Given the description of an element on the screen output the (x, y) to click on. 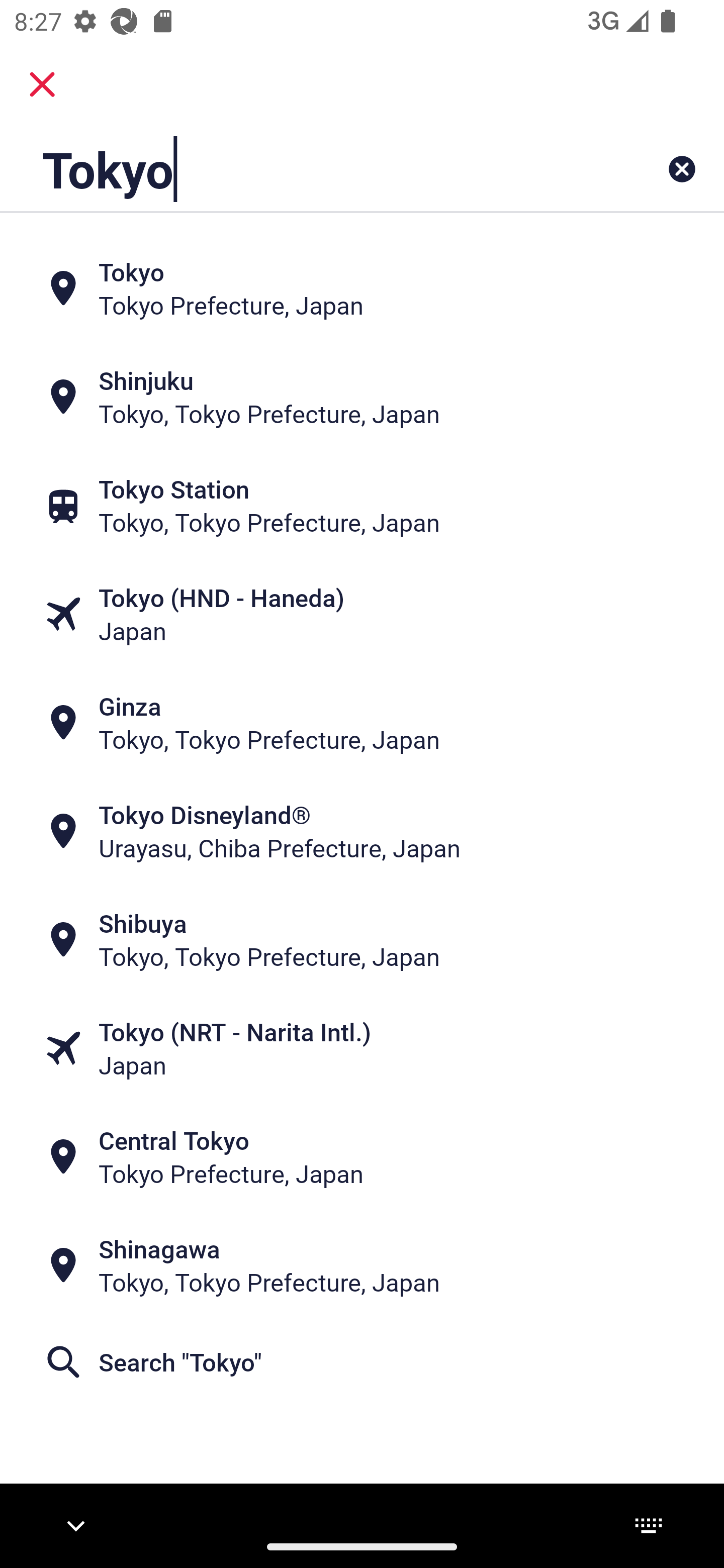
close. (42, 84)
Clear (681, 169)
Tokyo (298, 169)
Tokyo Tokyo Prefecture, Japan (362, 288)
Shinjuku Tokyo, Tokyo Prefecture, Japan (362, 397)
Tokyo Station Tokyo, Tokyo Prefecture, Japan (362, 505)
Tokyo (HND - Haneda) Japan (362, 613)
Ginza Tokyo, Tokyo Prefecture, Japan (362, 722)
Tokyo Disneyland® Urayasu, Chiba Prefecture, Japan (362, 831)
Shibuya Tokyo, Tokyo Prefecture, Japan (362, 939)
Tokyo (NRT - Narita Intl.) Japan (362, 1048)
Central Tokyo Tokyo Prefecture, Japan (362, 1156)
Shinagawa Tokyo, Tokyo Prefecture, Japan (362, 1265)
Search "Tokyo" (361, 1362)
